Given the description of an element on the screen output the (x, y) to click on. 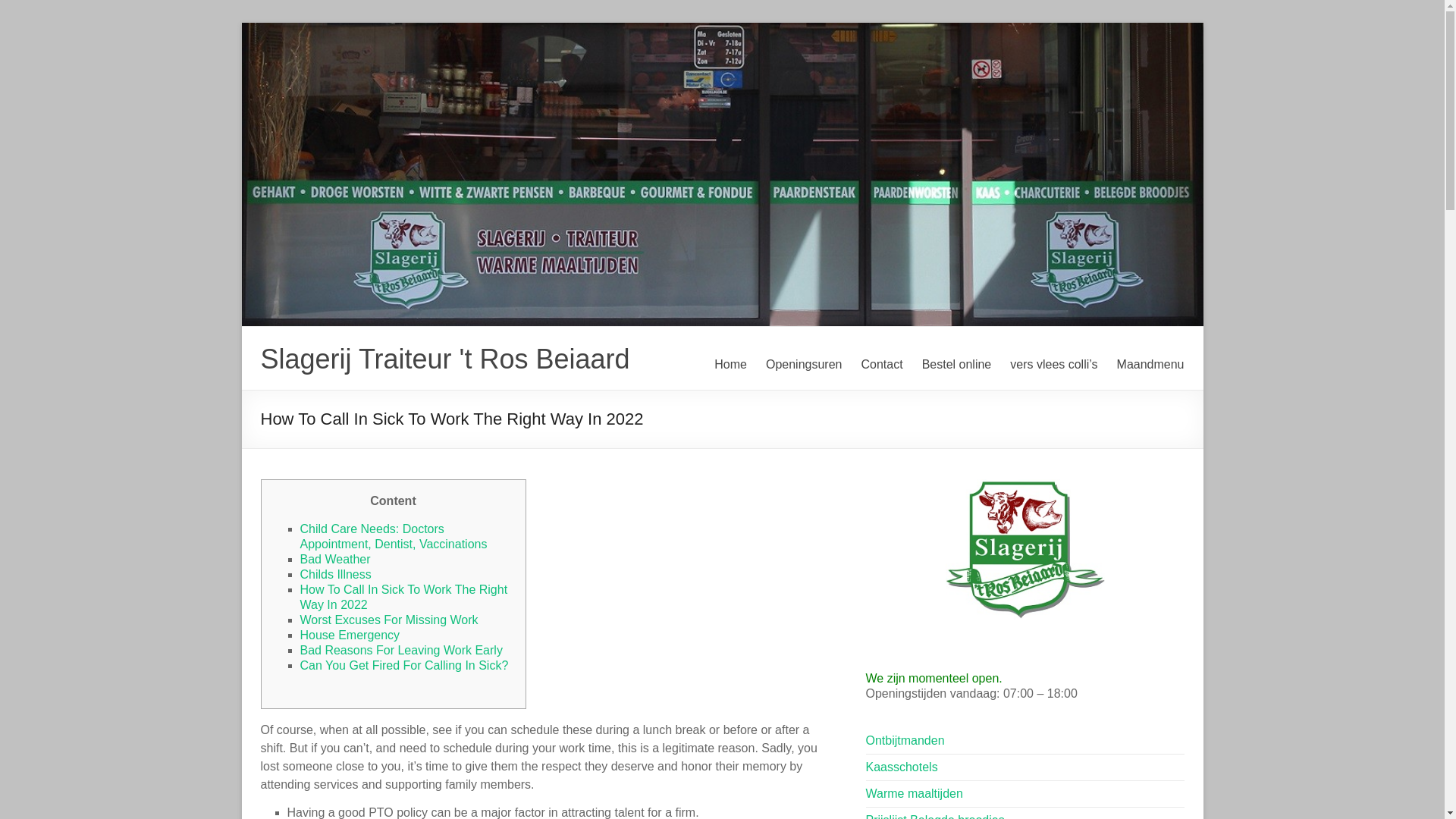
Bad Weather (335, 558)
House Emergency (349, 634)
Slagerij Traiteur 't Ros Beiaard (445, 358)
Contact (881, 363)
Can You Get Fired For Calling In Sick? (403, 665)
Slagerij Traiteur 't Ros Beiaard (445, 358)
Openingsuren (804, 363)
Maandmenu (1150, 363)
Ontbijtmanden (905, 739)
Home (730, 363)
Child Care Needs: Doctors Appointment, Dentist, Vaccinations (393, 536)
Bestel online (956, 363)
Kaasschotels (901, 766)
Bad Reasons For Leaving Work Early (400, 649)
